Given the description of an element on the screen output the (x, y) to click on. 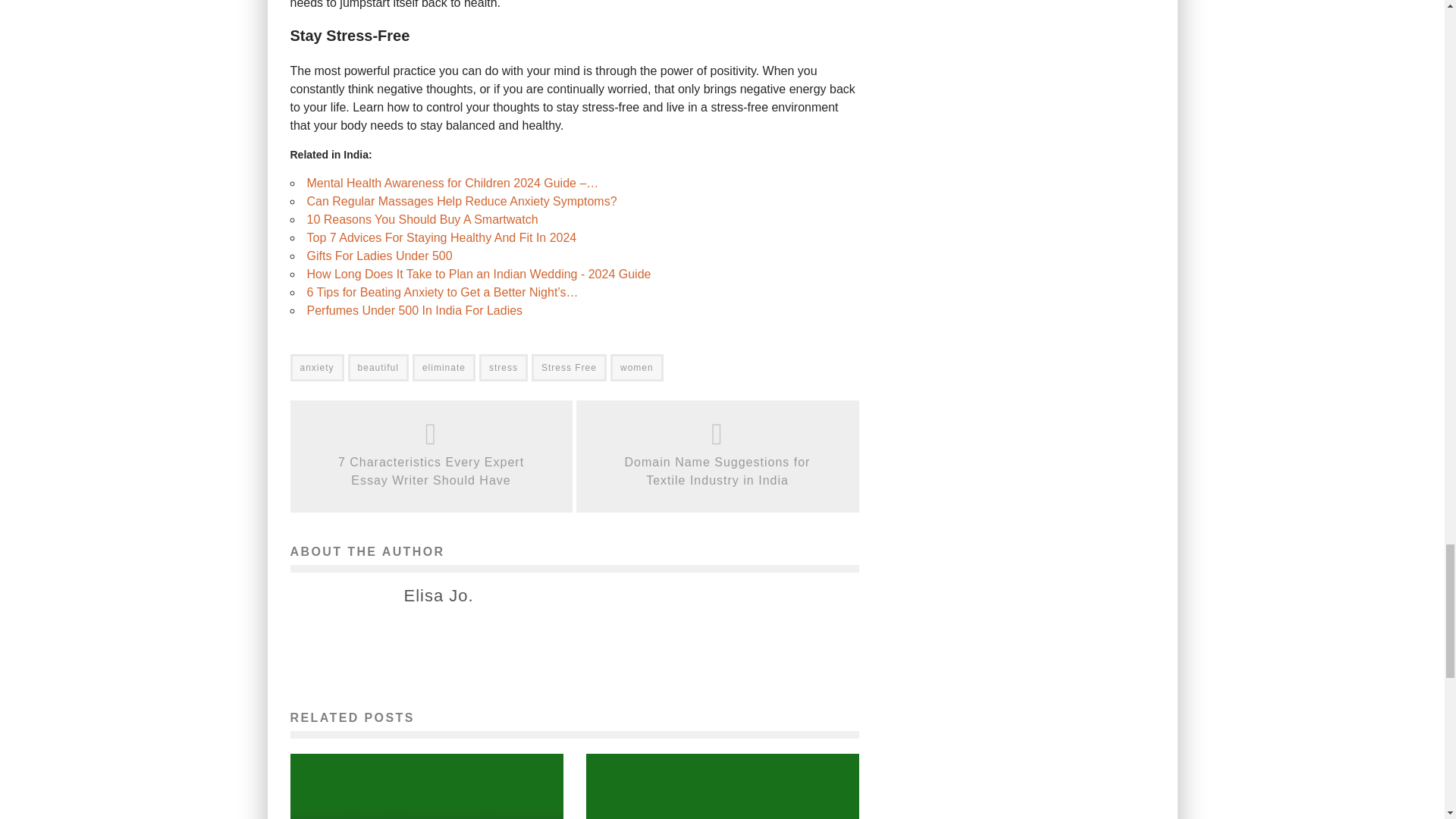
anxiety (316, 367)
eliminate (444, 367)
Can Regular Massages Help Reduce Anxiety Symptoms? (460, 201)
Gifts For Ladies Under 500 (378, 255)
Top 7 Advices For Staying Healthy And Fit In 2024 (440, 237)
Stress Free (569, 367)
How Long Does It Take to Plan an Indian Wedding - 2024 Guide (477, 273)
beautiful (378, 367)
stress (503, 367)
10 Reasons You Should Buy A Smartwatch (421, 219)
